Given the description of an element on the screen output the (x, y) to click on. 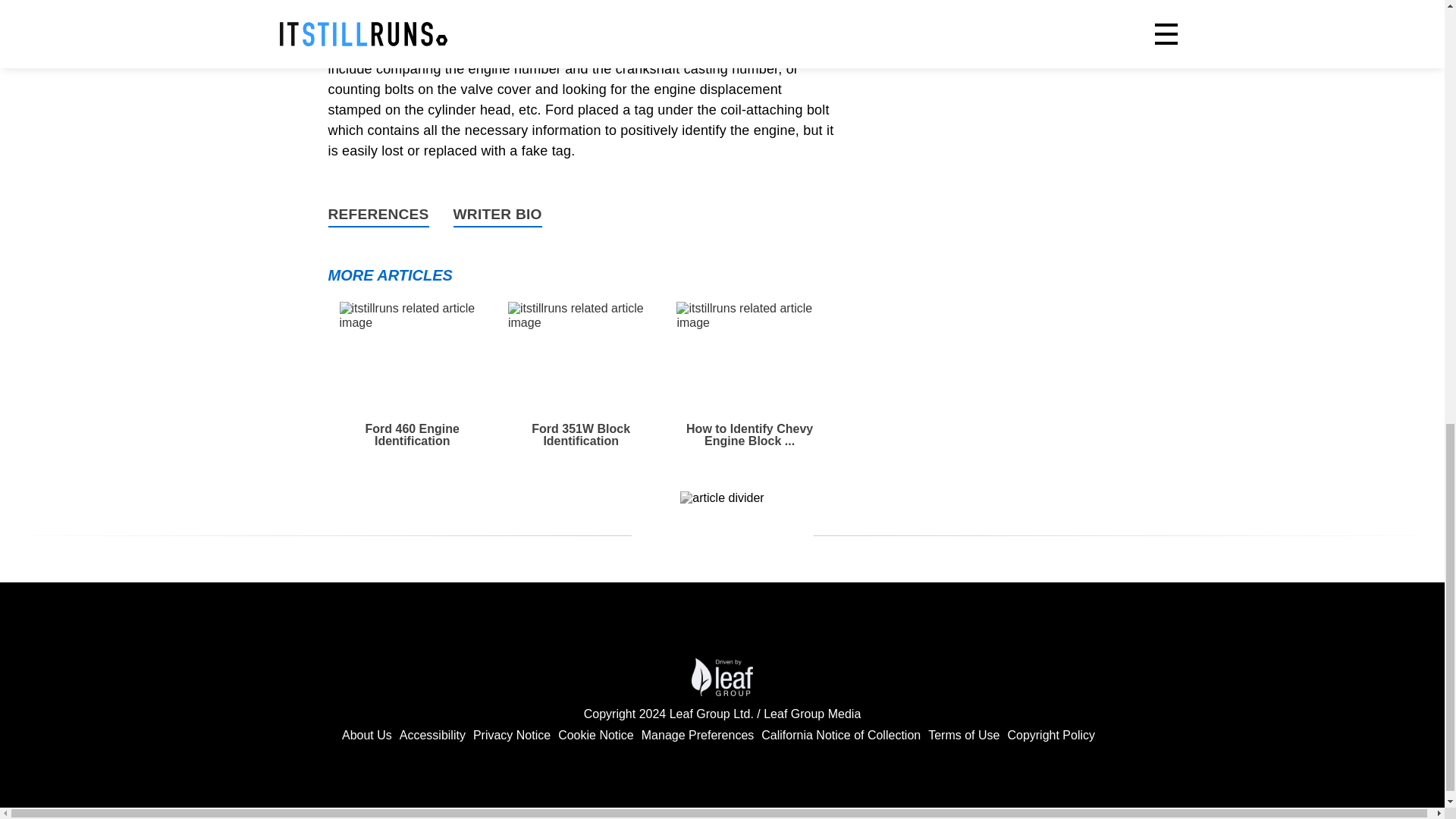
Privacy Notice (511, 735)
accessibility (431, 735)
About Us (366, 735)
privacy-policy (595, 735)
How to Identify Chevy Engine Block ... (749, 374)
Ford 460 Engine Identification (411, 374)
Cookie Notice (595, 735)
privacy-policy (840, 735)
about-us (366, 735)
Ford 351W Block Identification (580, 374)
privacy-policy (511, 735)
terms-of-use (963, 735)
Accessibility (431, 735)
copyright-policy (1050, 735)
Manage Preferences (698, 735)
